Given the description of an element on the screen output the (x, y) to click on. 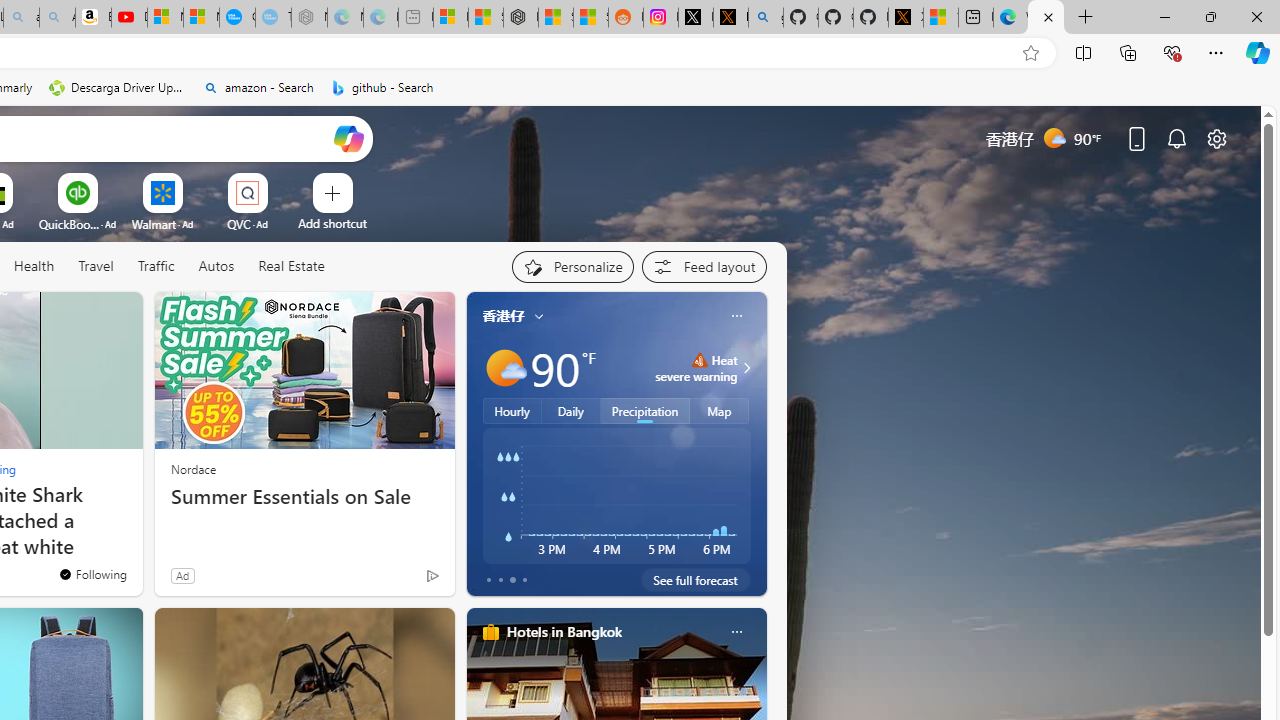
Click to see more information (744, 367)
Heat - Severe (699, 359)
Daily (571, 411)
Welcome to Microsoft Edge (1010, 17)
Log in to X / X (695, 17)
Shanghai, China Weather trends | Microsoft Weather (590, 17)
Notifications (1176, 138)
You're following FOX News (92, 573)
Traffic (155, 267)
Hourly (511, 411)
Close (1256, 16)
